Given the description of an element on the screen output the (x, y) to click on. 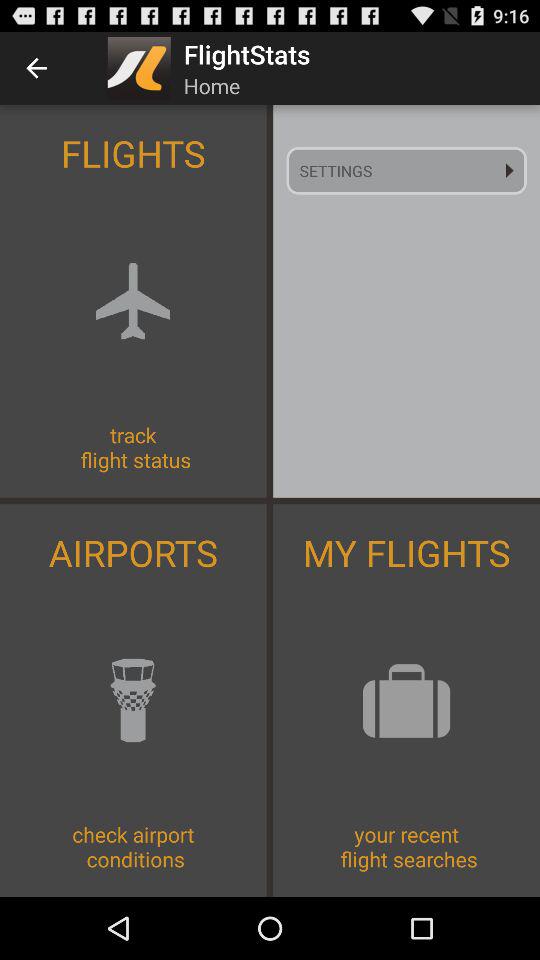
launch the item above the flights (36, 68)
